Given the description of an element on the screen output the (x, y) to click on. 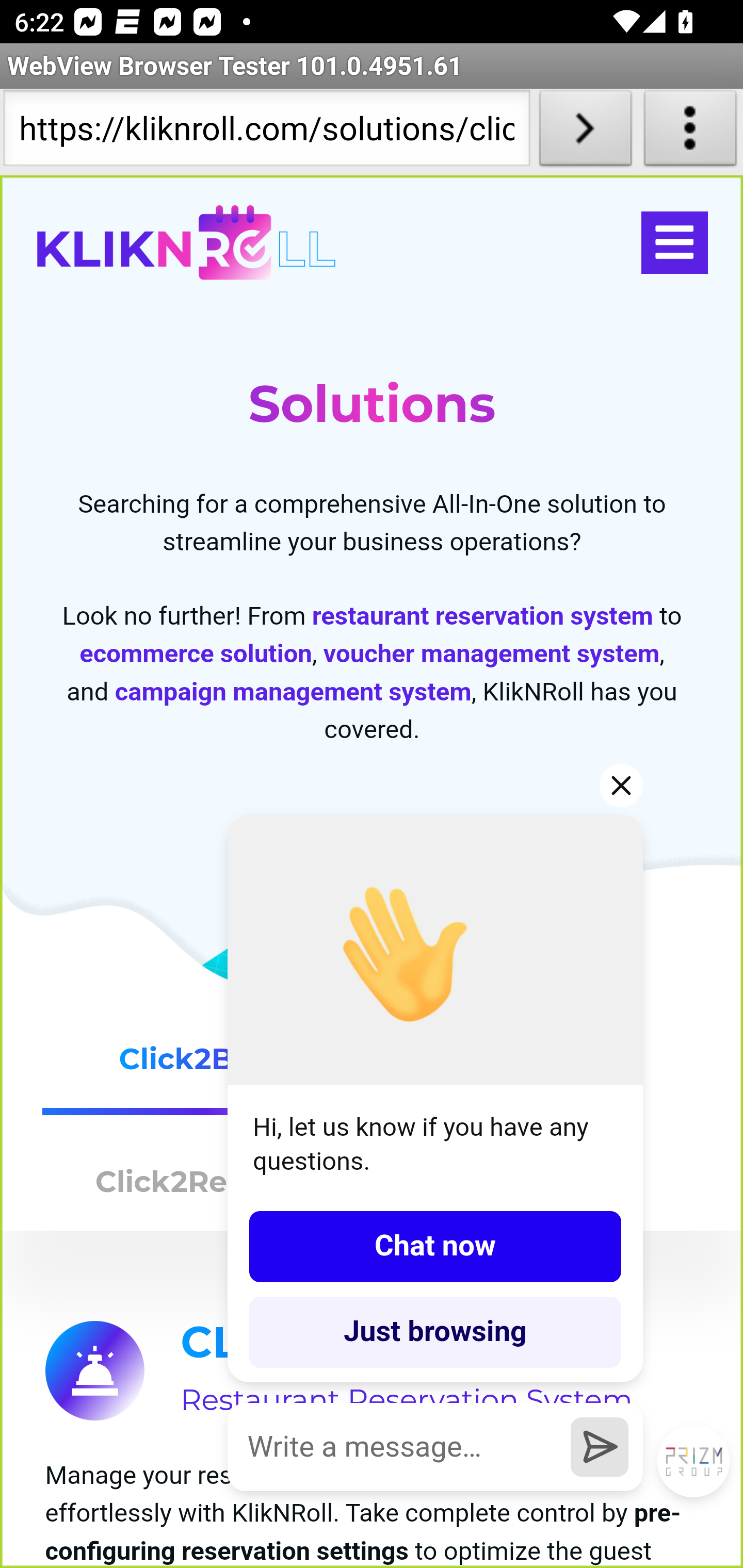
Load URL (585, 132)
About WebView (690, 132)
kliknroll (185, 242)
 (673, 242)
Hide greeting (621, 785)
Chat now (435, 1246)
Just browsing (435, 1331)
Send a message (600, 1446)
Open LiveChat chat widget (694, 1462)
